Given the description of an element on the screen output the (x, y) to click on. 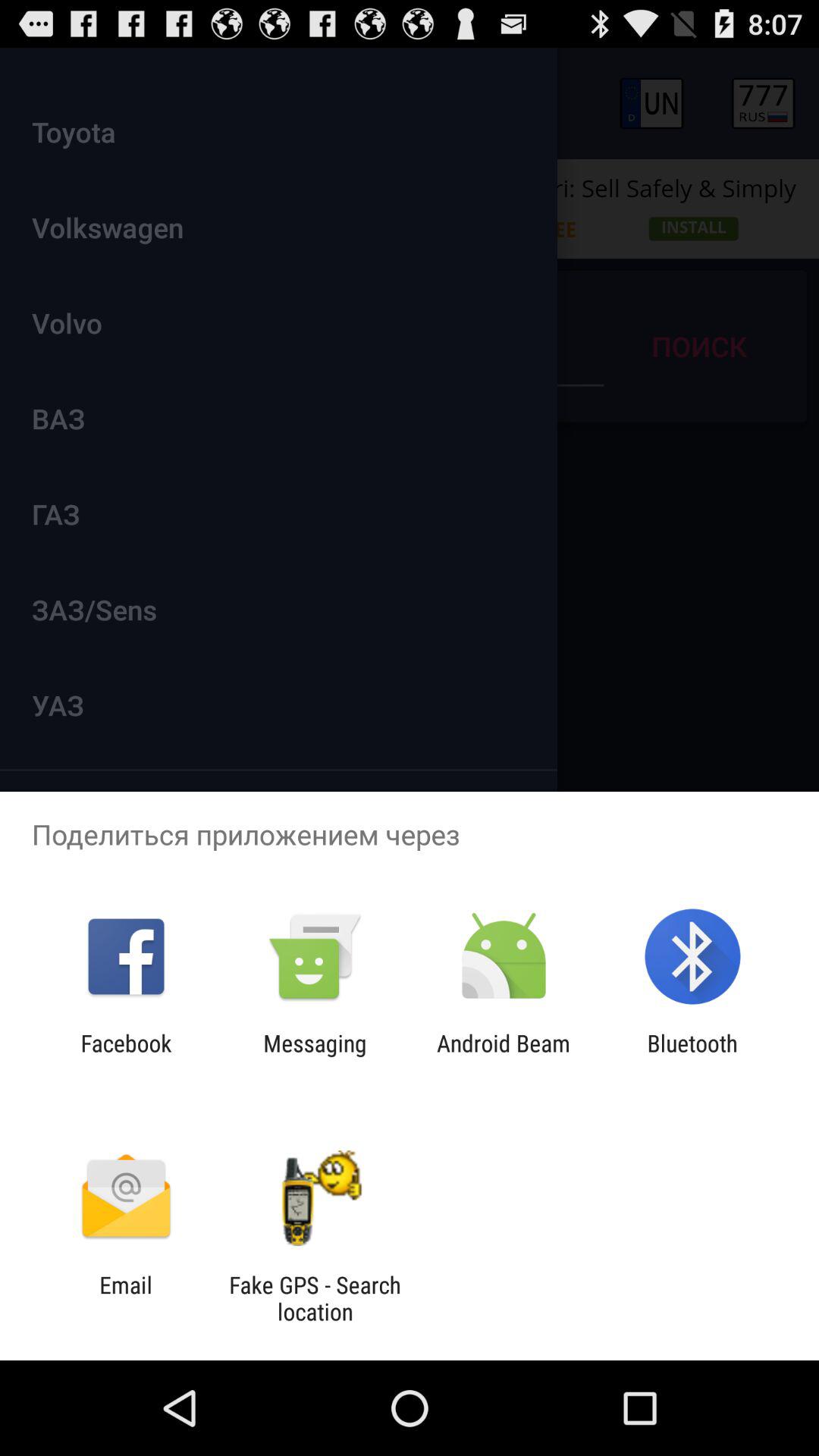
tap the app to the left of the messaging item (125, 1056)
